Given the description of an element on the screen output the (x, y) to click on. 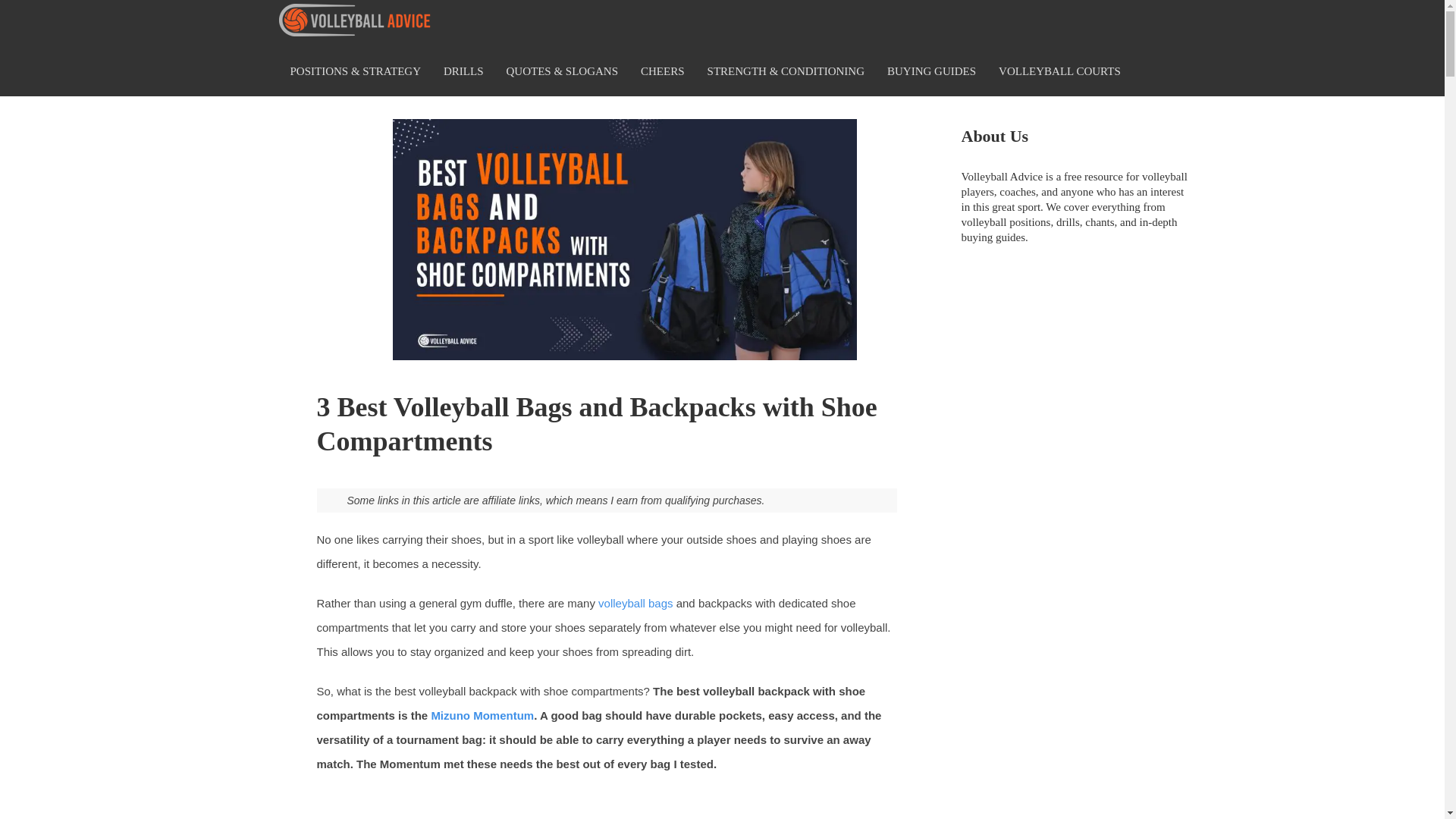
VOLLEYBALL COURTS (1059, 71)
Mizuno Momentum (482, 715)
CHEERS (661, 71)
BUYING GUIDES (931, 71)
volleyball bags (635, 603)
DRILLS (463, 71)
